Given the description of an element on the screen output the (x, y) to click on. 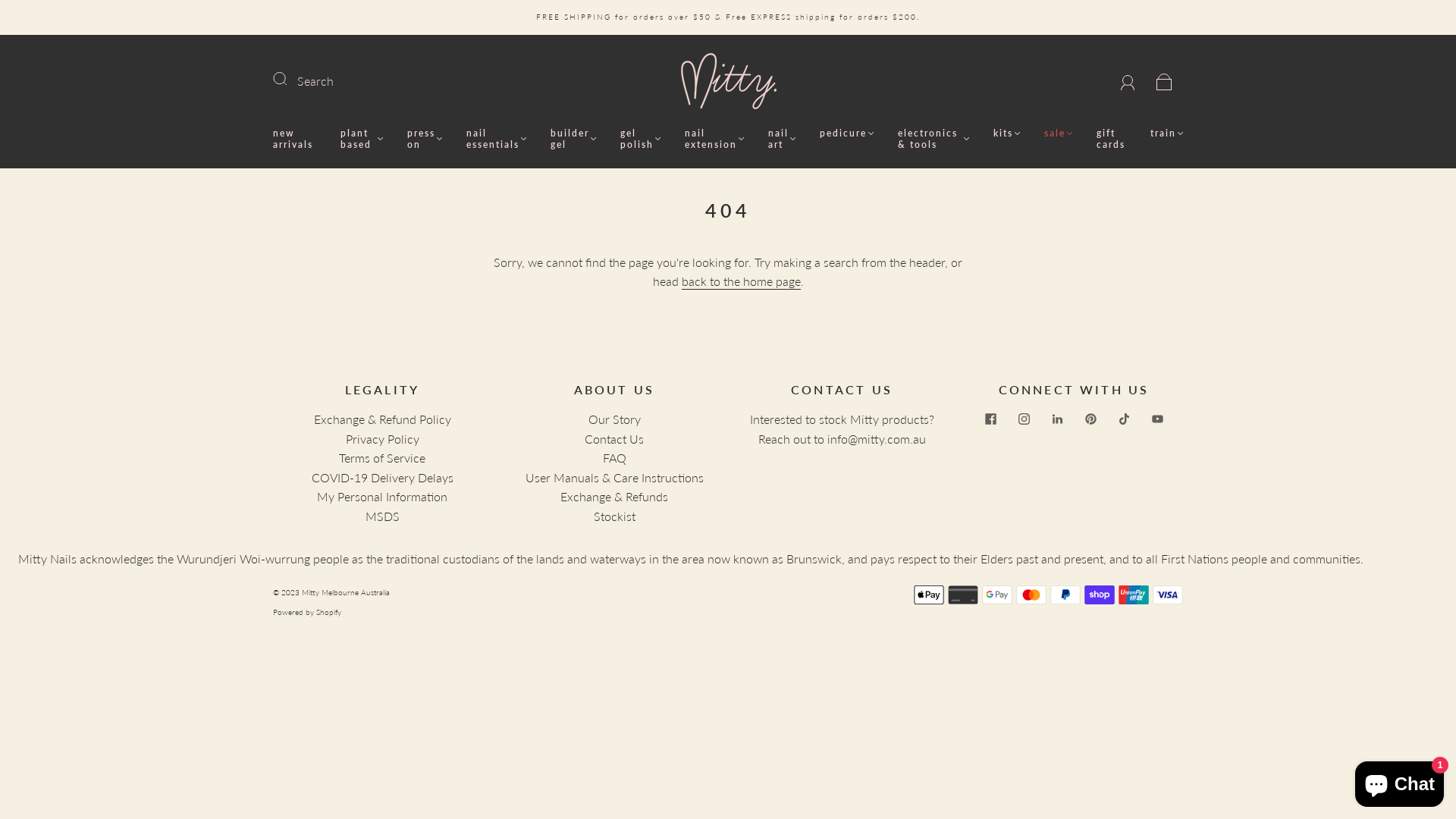
Stockist Element type: text (613, 515)
MSDS Element type: text (382, 515)
Our Story Element type: text (614, 418)
pedicure Element type: text (846, 132)
gel polish Element type: text (640, 138)
Privacy Policy Element type: text (382, 438)
new arrivals Element type: text (294, 138)
Shopify online store chat Element type: hover (1399, 780)
Powered by Shopify Element type: text (307, 611)
nail art Element type: text (781, 138)
plant based Element type: text (361, 138)
nail extension Element type: text (713, 138)
builder gel Element type: text (573, 138)
Mitty Melbourne Australia Element type: text (345, 591)
train Element type: text (1166, 132)
User Manuals & Care Instructions Element type: text (613, 477)
back to the home page Element type: text (740, 281)
electronics & tools Element type: text (933, 138)
FAQ Element type: text (613, 457)
My Personal Information Element type: text (381, 496)
COVID-19 Delivery Delays Element type: text (381, 477)
Exchange & Refunds Element type: text (614, 496)
Exchange & Refund Policy Element type: text (382, 418)
Contact Us Element type: text (613, 438)
kits Element type: text (1006, 132)
Terms of Service Element type: text (381, 457)
gift cards Element type: text (1111, 138)
press on Element type: text (424, 138)
sale Element type: text (1058, 132)
nail essentials Element type: text (496, 138)
